Given the description of an element on the screen output the (x, y) to click on. 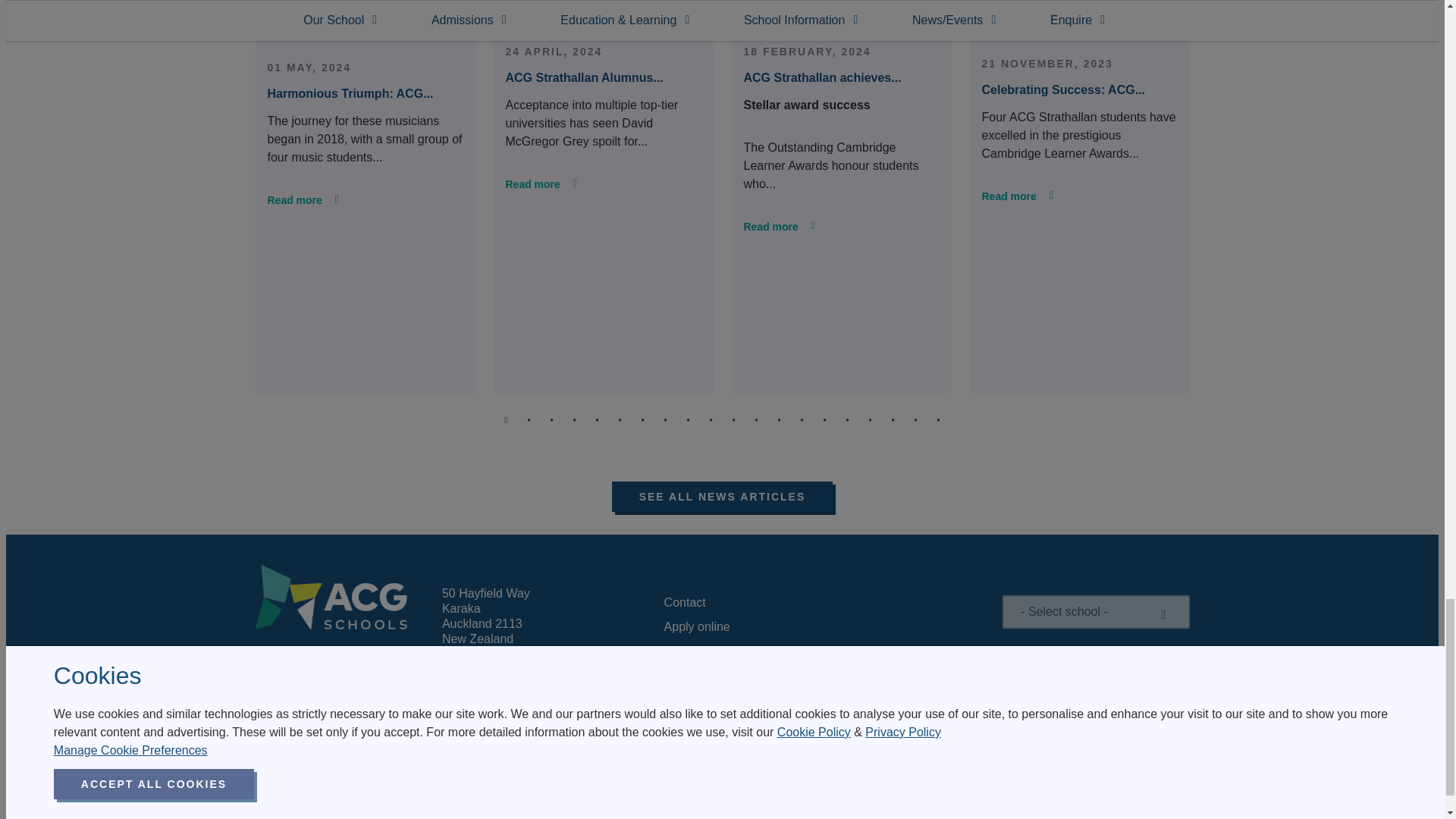
ACG Strathallan Musicians Shine at Tauranga Jazzfest (365, 13)
Strathallan Students (841, 5)
